Given the description of an element on the screen output the (x, y) to click on. 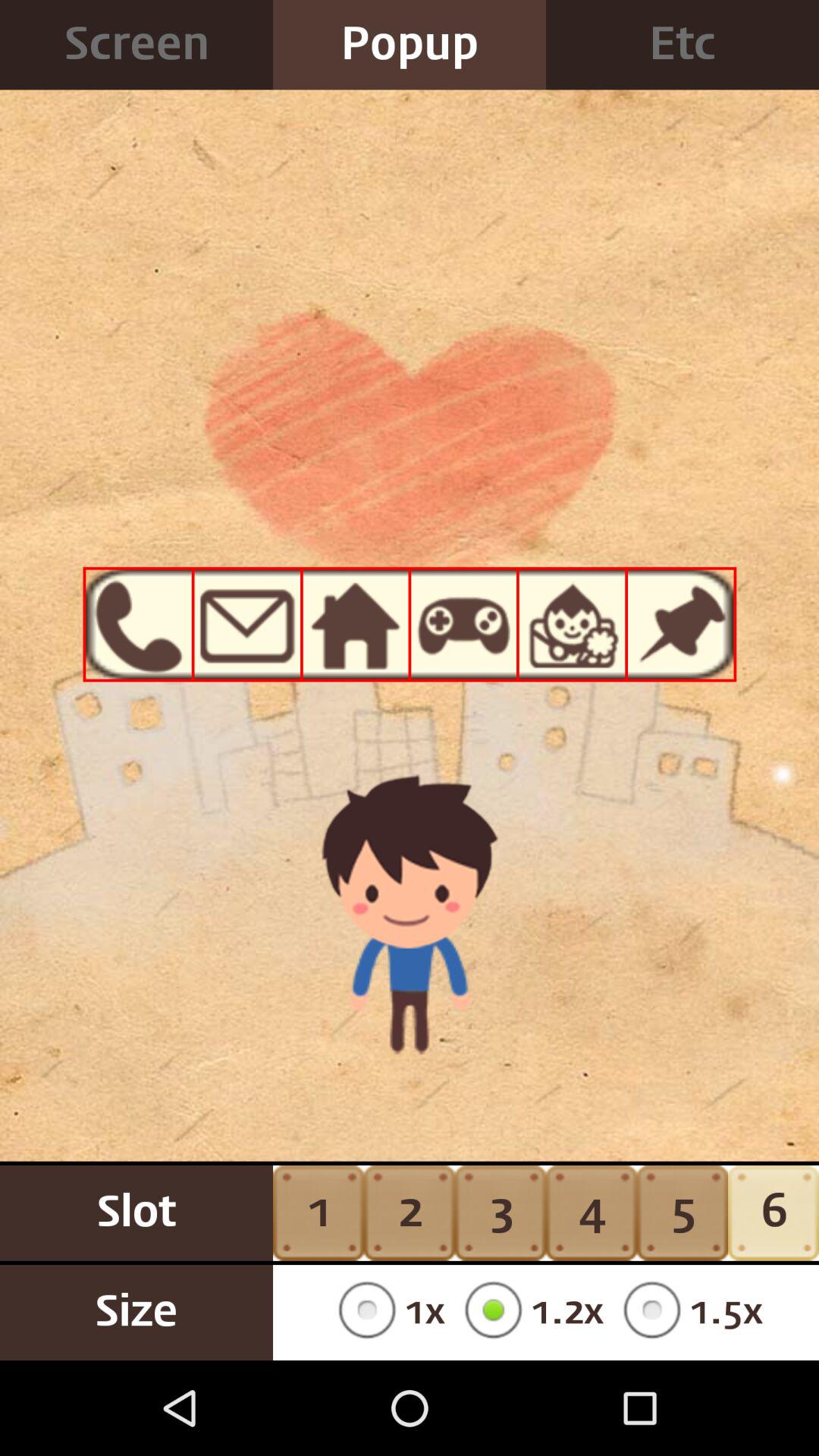
choose 1x item (386, 1312)
